Given the description of an element on the screen output the (x, y) to click on. 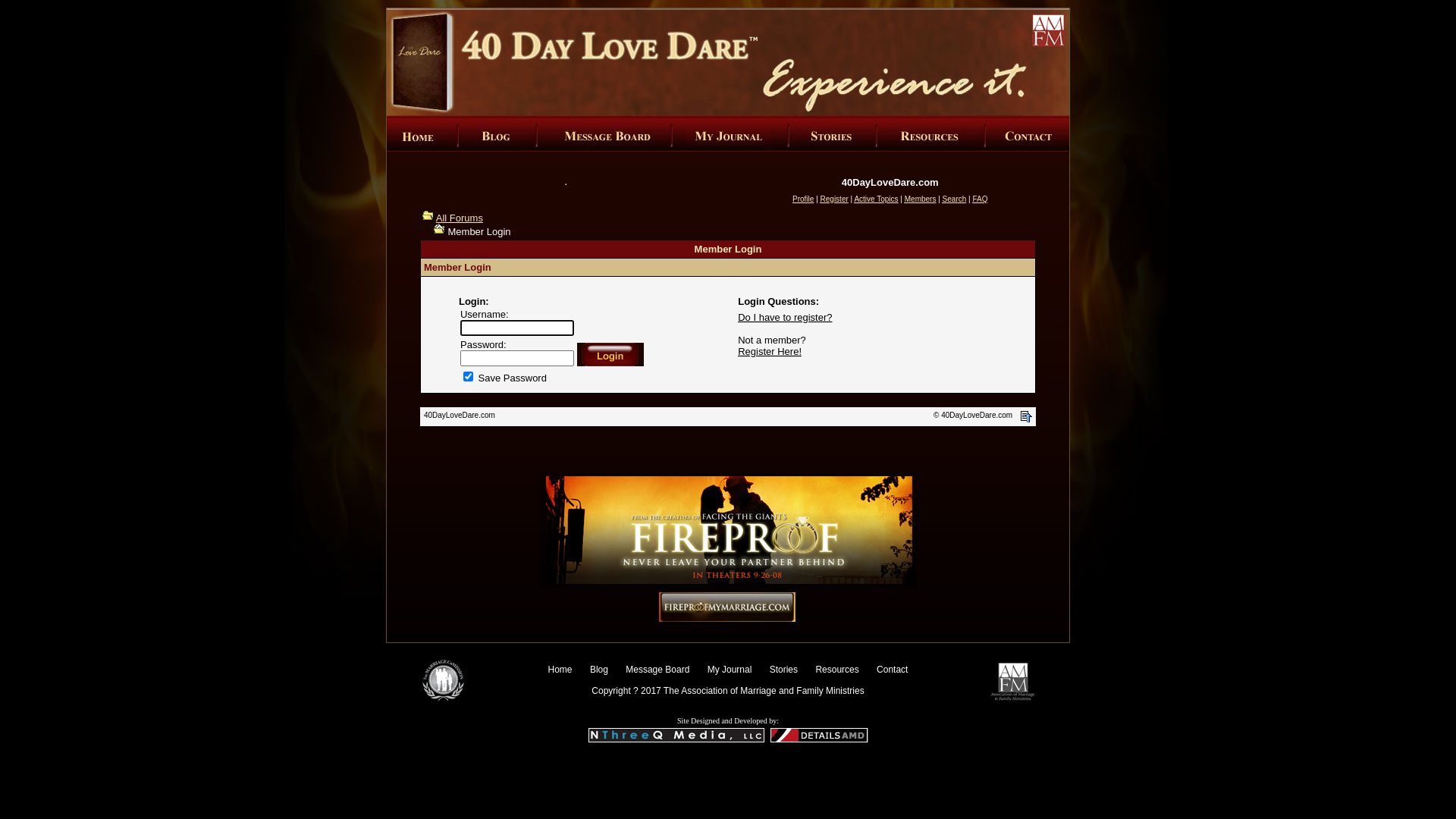
Custom Graphic Design Element type: hover (676, 739)
Home Element type: text (560, 669)
FAQ Element type: text (979, 198)
michael kors handbags outlet Element type: text (752, 765)
Do I have to register? Element type: text (784, 317)
cheap christian louboutin Element type: text (828, 758)
Register Element type: text (834, 198)
Stories Element type: text (783, 669)
Custom Website Development Element type: hover (819, 739)
Search Element type: text (954, 198)
Go To Top Of Page Element type: hover (1026, 416)
All Forums Element type: text (459, 217)
Register Here! Element type: text (769, 351)
My Journal Element type: text (729, 669)
cheap oakley sunglasses Element type: text (643, 751)
Message Board Element type: text (657, 669)
Active Topics Element type: text (875, 198)
Resources Element type: text (836, 669)
Contact Element type: text (891, 669)
Profile Element type: text (802, 198)
Blog Element type: text (598, 669)
philipp plein t shirt tiger Element type: text (764, 751)
cheap christian louboutin Element type: text (887, 751)
Forum Login Element type: hover (439, 229)
cheap mac makeup Element type: text (534, 751)
Members Element type: text (920, 198)
All Forums Element type: hover (427, 215)
